Given the description of an element on the screen output the (x, y) to click on. 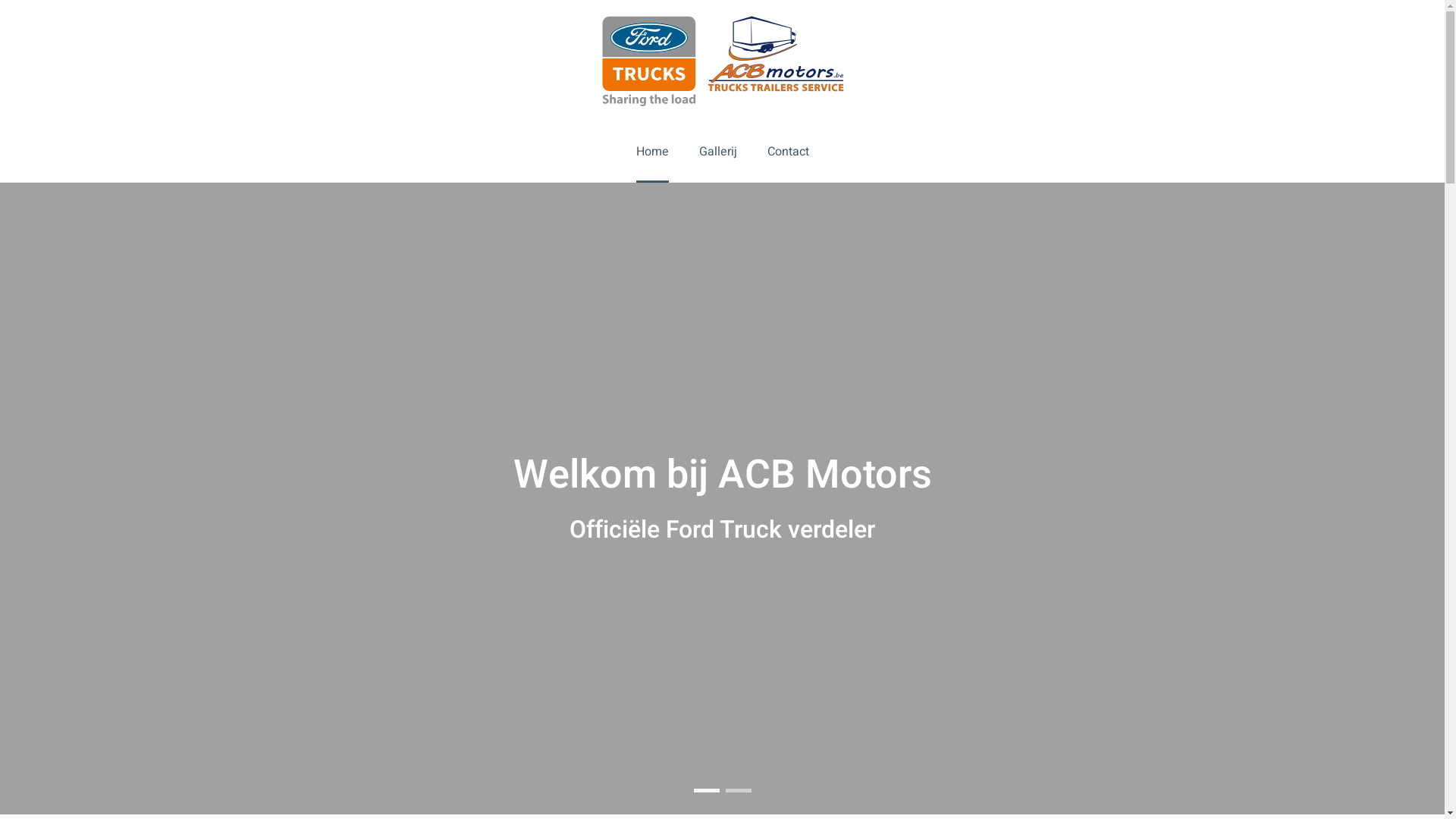
The new big
Ford Trucks F-MAX! Element type: text (737, 790)
Contact Element type: text (788, 151)
Gallerij Element type: text (718, 151)
Home Element type: text (651, 151)
Welkom bij ACB Motors Element type: text (705, 790)
